Given the description of an element on the screen output the (x, y) to click on. 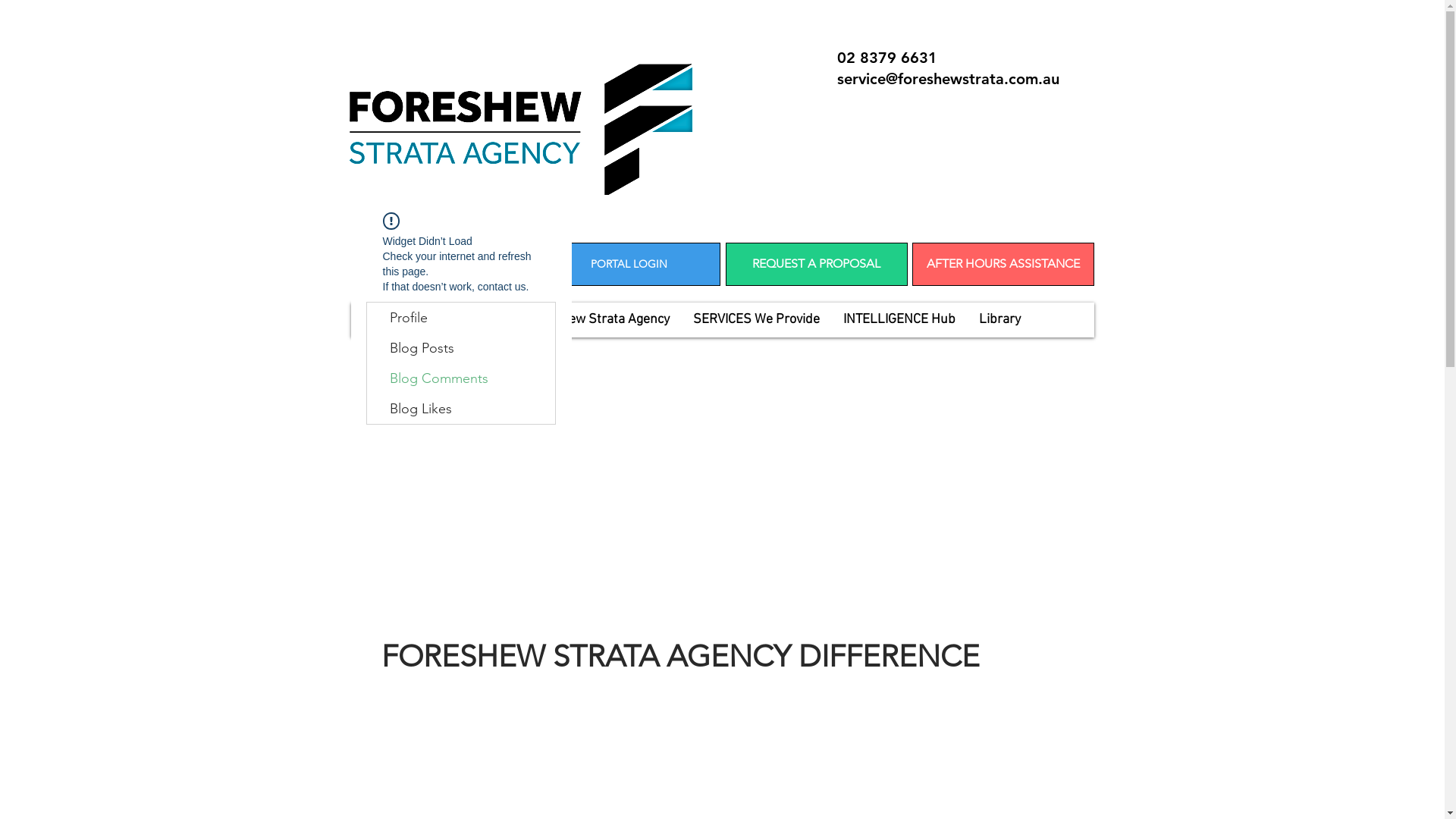
REQUEST A PROPOSAL Element type: text (815, 263)
Profile Element type: text (461, 317)
Blog Comments Element type: text (461, 378)
HOME Element type: text (441, 319)
ABOUT Foreshew Strata Agency Element type: text (575, 319)
Library Element type: text (998, 319)
Blog Likes Element type: text (461, 408)
Blog Posts Element type: text (461, 347)
PORTAL LOGIN Element type: text (629, 263)
AFTER HOURS ASSISTANCE Element type: text (1002, 263)
CONTACT US Element type: text (441, 263)
